Given the description of an element on the screen output the (x, y) to click on. 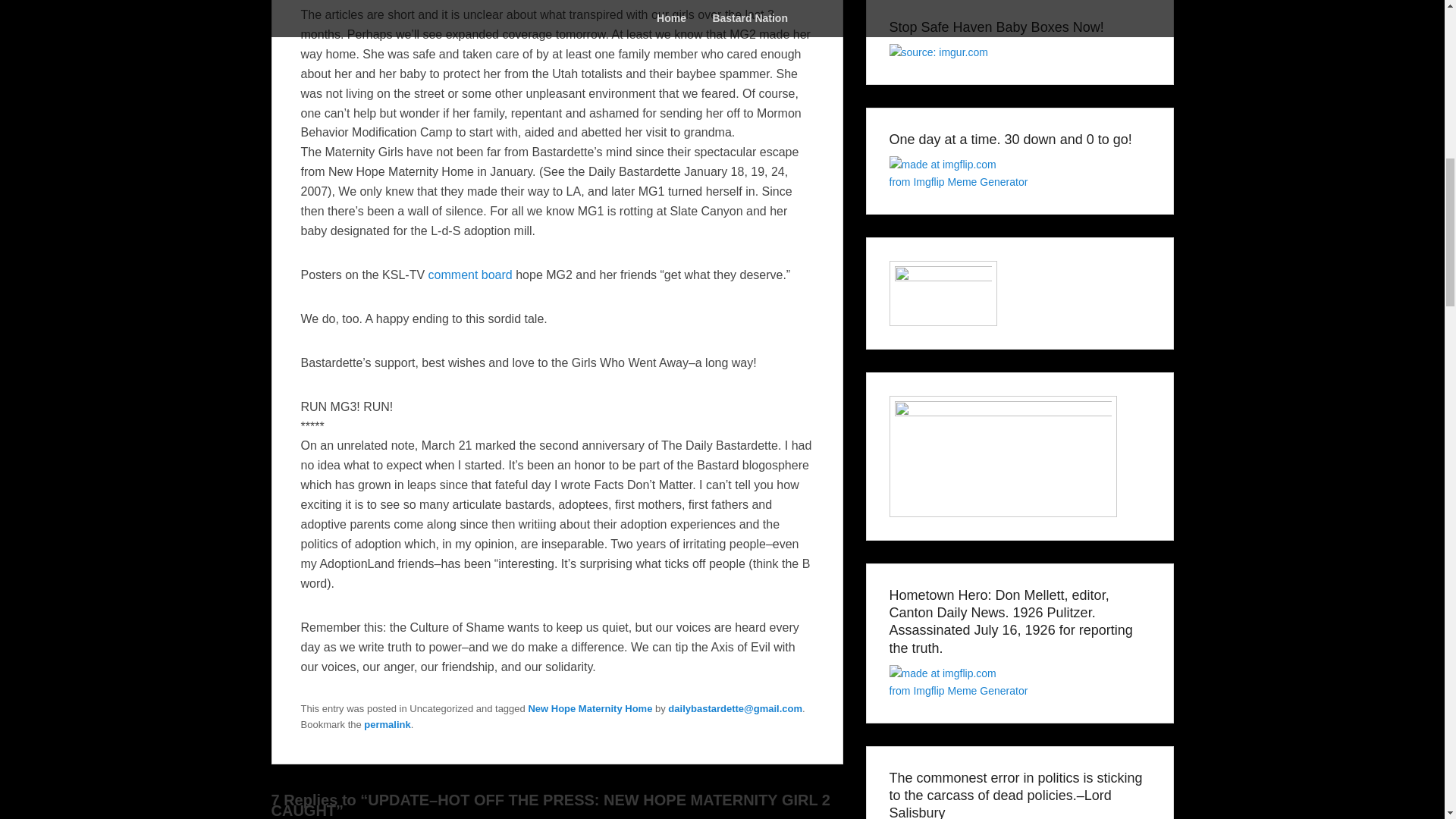
New Hope Maternity Home (589, 708)
made at imgflip.com (941, 673)
comment board (470, 274)
source: imgur.com (937, 52)
made at imgflip.com (941, 164)
permalink (387, 724)
